Given the description of an element on the screen output the (x, y) to click on. 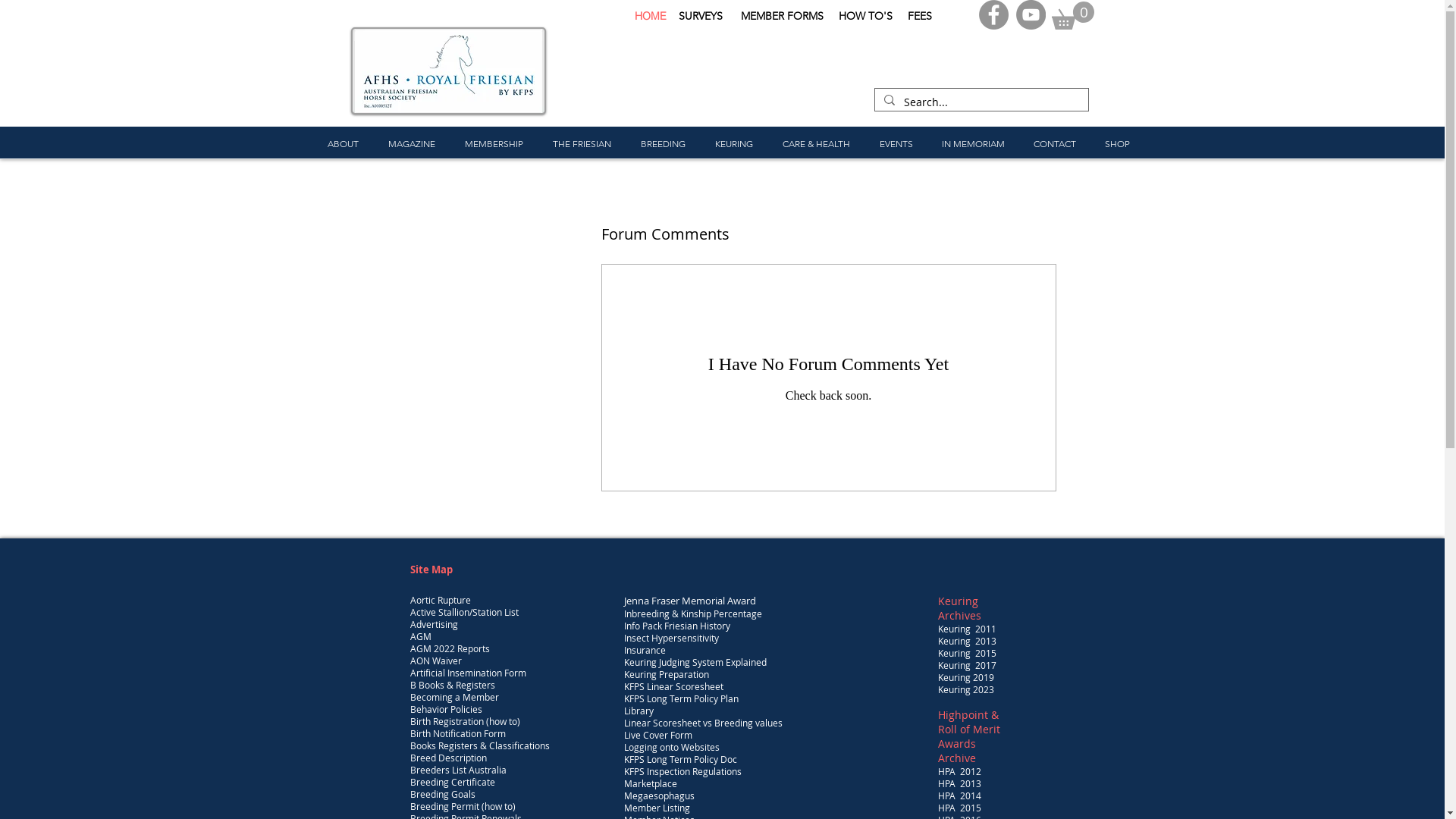
MEMBER FORMS  Element type: text (782, 15)
HPA  2014 Element type: text (958, 795)
Linear Scoresheet vs Breeding values Element type: text (702, 724)
CONTACT Element type: text (1054, 143)
KFPS Linear Scoresheet Element type: text (672, 688)
KEURING Element type: text (734, 143)
Member Listing Element type: text (656, 809)
Insurance Element type: text (644, 652)
Keuring  2017 Element type: text (966, 664)
0 Element type: text (1072, 15)
Birth Registration (how to) Element type: text (464, 721)
CARE & HEALTH Element type: text (815, 143)
B Books & Registers Element type: text (451, 684)
Breeding Certificate Element type: text (451, 781)
SHOP Element type: text (1117, 143)
Advertising Element type: text (433, 624)
Keuring  2011 Element type: text (966, 628)
Info Pack Friesian History Element type: text (676, 627)
Jenna Fraser Memorial Award Element type: text (689, 600)
Highpoint & Roll of Merit Awards Element type: text (968, 728)
HOME Element type: text (649, 15)
MAGAZINE Element type: text (411, 143)
FEES Element type: text (918, 15)
Behavior Policies Element type: text (445, 708)
AON Waiver Element type: text (435, 660)
Breed Description Element type: text (447, 757)
SURVEYS  Element type: text (700, 15)
ABOUT Element type: text (342, 143)
Keuring 2019 Element type: text (965, 677)
HPA  2015 Element type: text (958, 807)
Birth Notification Form Element type: text (457, 733)
AGM 2022 Reports Element type: text (449, 648)
HPA  2012 Element type: text (958, 771)
KFPS Long Term Policy Plan Element type: text (680, 700)
AGM Element type: text (419, 636)
Breeding Goals Element type: text (441, 793)
HPA  2013 Element type: text (958, 783)
Keuring Judging System Explained Element type: text (694, 664)
Aortic Rupture Element type: text (439, 599)
THE FRIESIAN Element type: text (582, 143)
Books Registers & Classifications Element type: text (479, 745)
Library Element type: text (637, 712)
Becoming a Member Element type: text (453, 696)
MEMBERSHIP Element type: text (494, 143)
Keuring 2023 Element type: text (965, 689)
BREEDING Element type: text (663, 143)
Breeders List Australia Element type: text (457, 769)
Marketplace Element type: text (649, 785)
Inbreeding & Kinship Percentage Element type: text (692, 615)
Artificial Insemination Form Element type: text (467, 672)
EVENTS Element type: text (895, 143)
KFPS Inspection Regulations Element type: text (681, 773)
Active Stallion/Station List Element type: text (463, 611)
Keuring  2015 Element type: text (966, 652)
Insect Hypersensitivity Element type: text (670, 640)
Live Cover Form Element type: text (657, 734)
Logging onto Websites Element type: text (670, 749)
Megaesophagus Element type: text (658, 797)
Keuring Preparation Element type: text (665, 676)
Archive Element type: text (956, 757)
HOW TO'S Element type: text (865, 15)
KFPS Long Term Policy Doc Element type: text (679, 761)
Breeding Permit (how to) Element type: text (461, 806)
IN MEMORIAM Element type: text (972, 143)
Keuring  2013 Element type: text (966, 640)
